Given the description of an element on the screen output the (x, y) to click on. 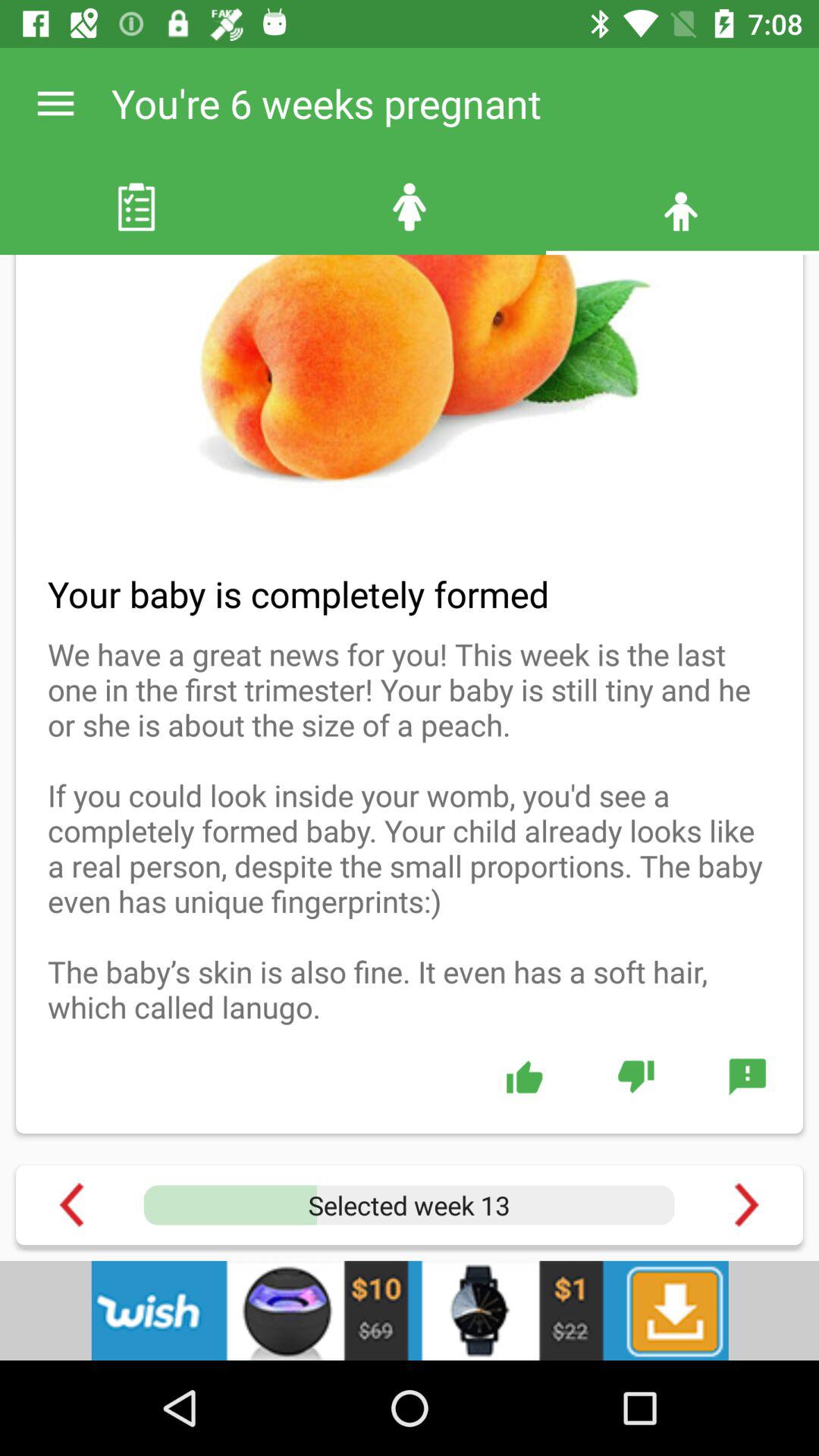
go back (71, 1204)
